Given the description of an element on the screen output the (x, y) to click on. 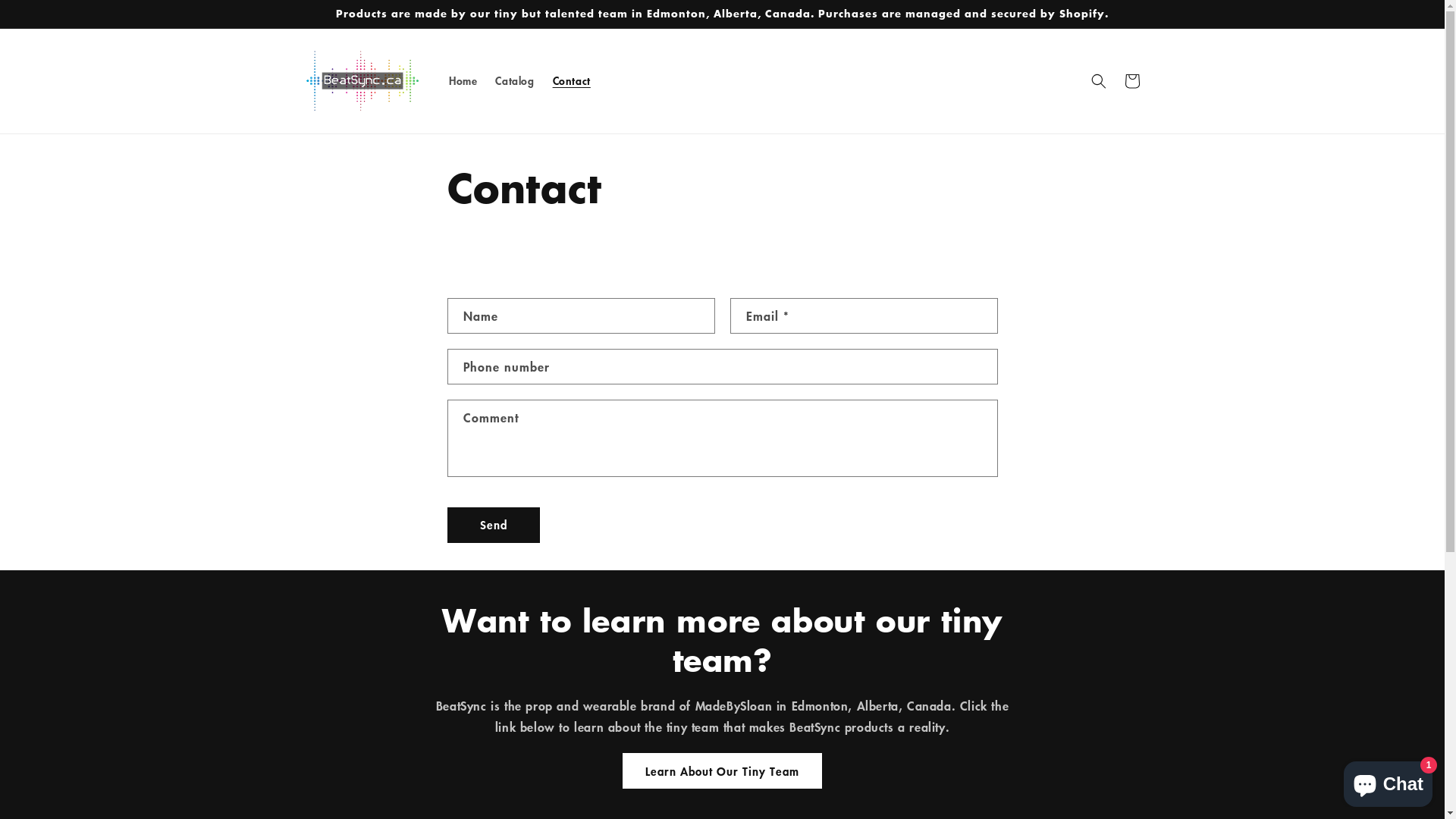
Contact Element type: text (571, 81)
Cart Element type: text (1131, 80)
Shopify online store chat Element type: hover (1388, 780)
Send Element type: text (493, 524)
Catalog Element type: text (514, 81)
Learn About Our Tiny Team Element type: text (722, 770)
Home Element type: text (462, 81)
